Given the description of an element on the screen output the (x, y) to click on. 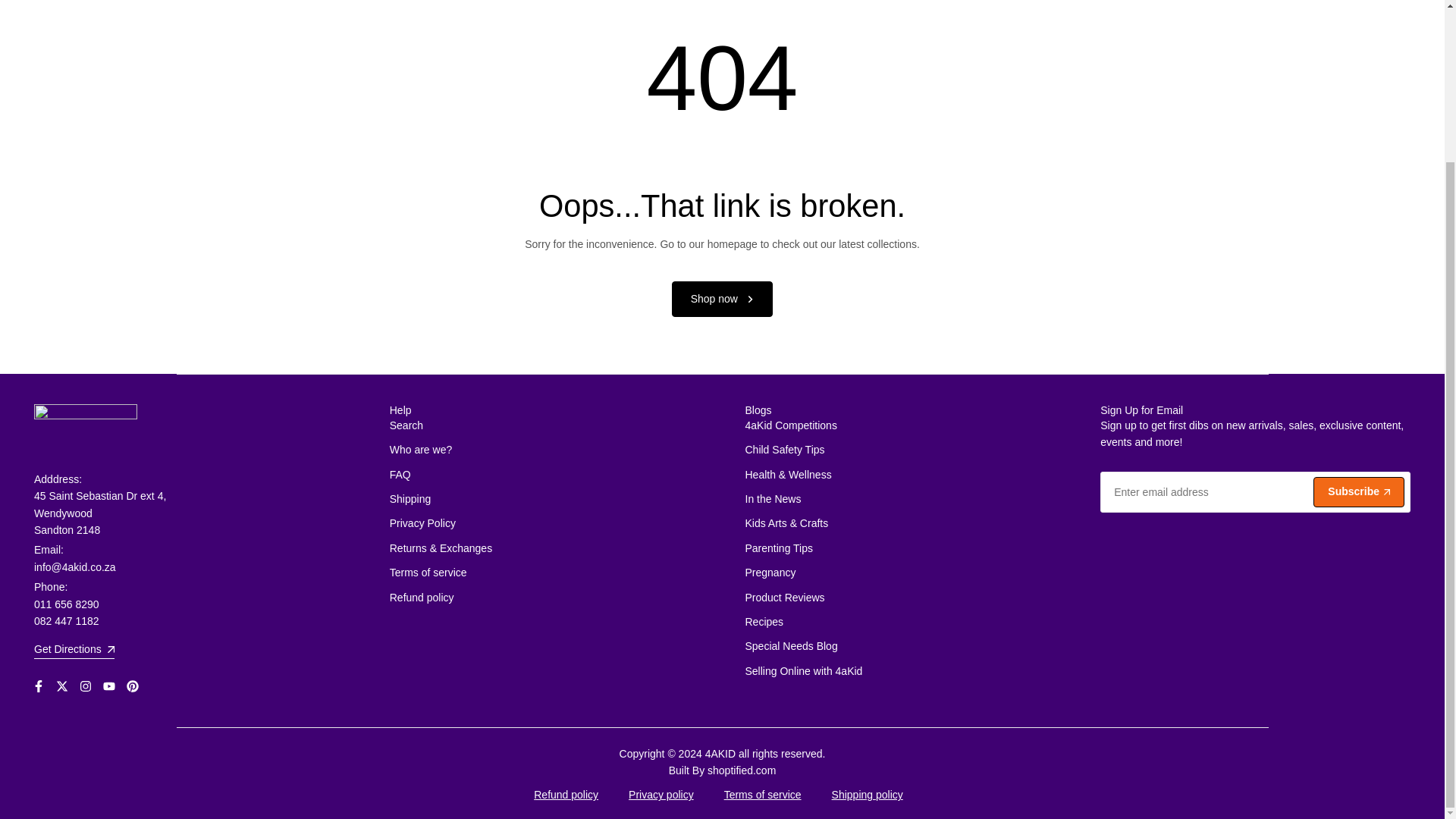
Terms of service (428, 572)
Search (406, 425)
Instagram (85, 686)
Shop now (722, 298)
Shipping (410, 499)
Refund policy (422, 597)
Twitter (62, 686)
YouTube (109, 686)
Who are we? (420, 449)
Get Directions (74, 650)
